Given the description of an element on the screen output the (x, y) to click on. 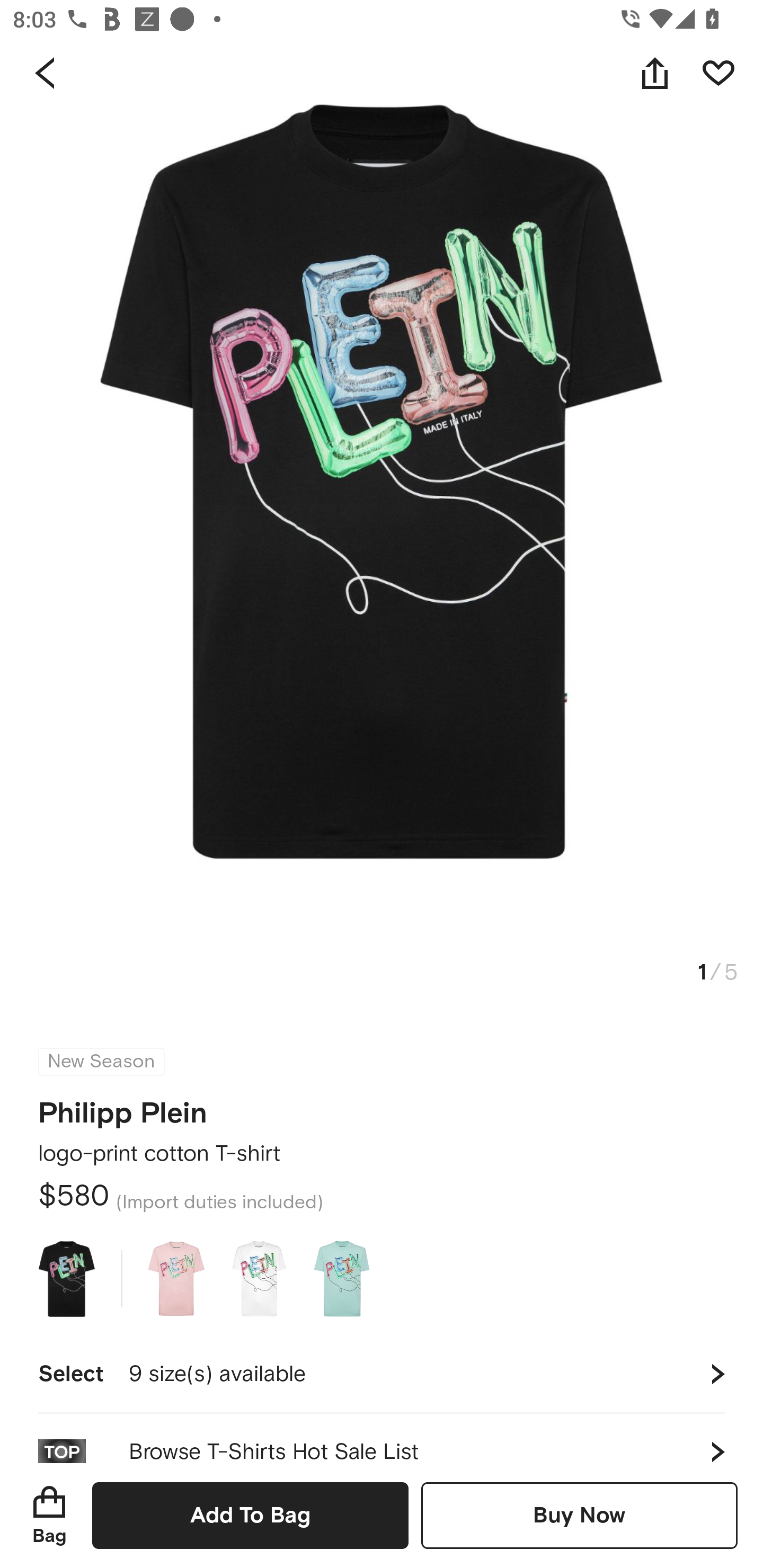
Philipp Plein (122, 1107)
Select 9 size(s) available (381, 1373)
Browse T-Shirts Hot Sale List (381, 1438)
Bag (49, 1515)
Add To Bag (250, 1515)
Buy Now (579, 1515)
